Given the description of an element on the screen output the (x, y) to click on. 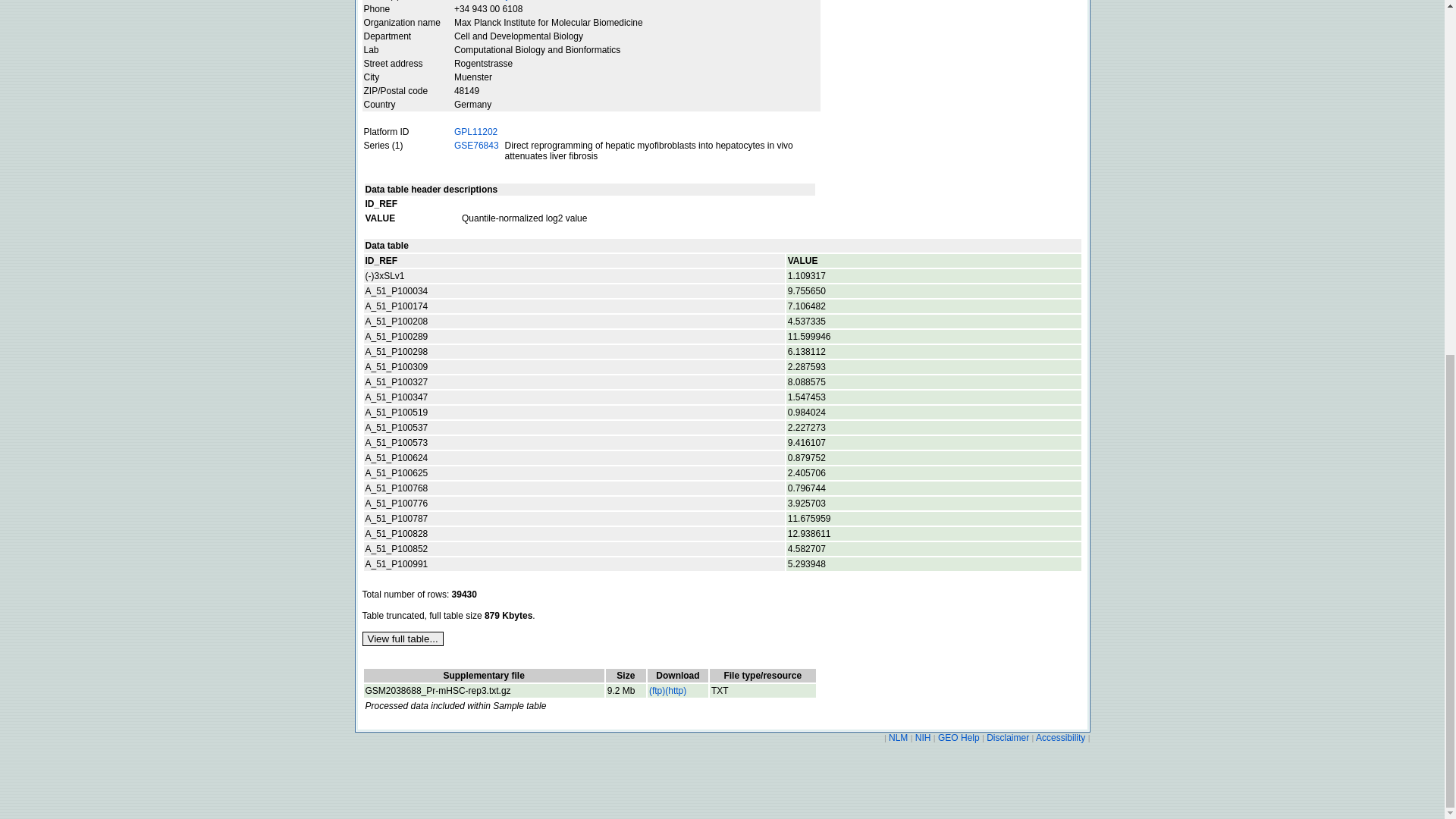
GEO Help (958, 737)
NLM (898, 737)
View full table... (403, 638)
9643636 (625, 690)
View full table... (403, 638)
Accessibility (1060, 737)
NIH (922, 737)
GPL11202 (475, 131)
Disclaimer (1008, 737)
GSE76843 (476, 145)
